Given the description of an element on the screen output the (x, y) to click on. 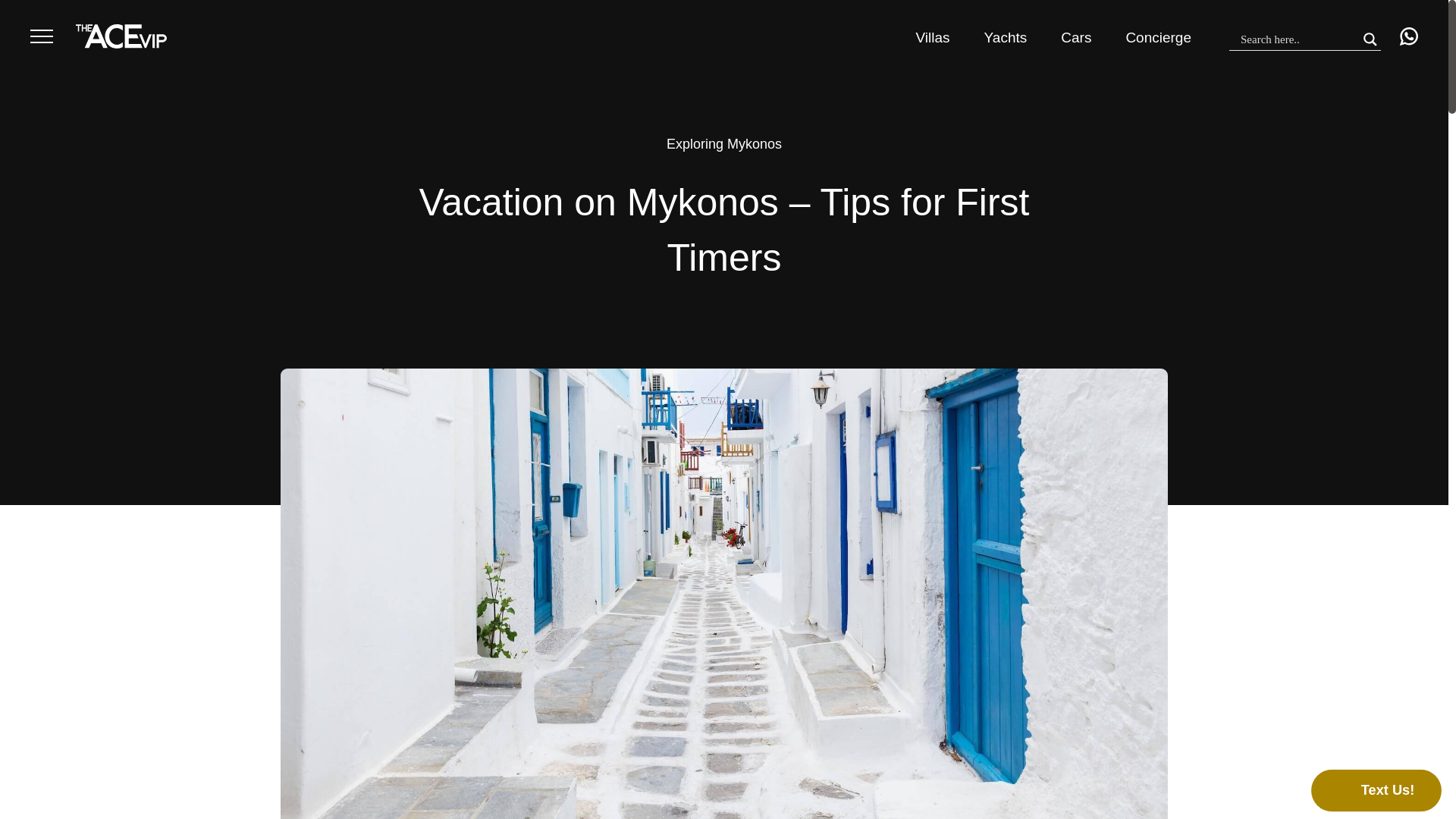
Cars (1075, 37)
Yachts (1005, 37)
Concierge (1158, 37)
Villas (932, 37)
Exploring Mykonos (723, 143)
